Given the description of an element on the screen output the (x, y) to click on. 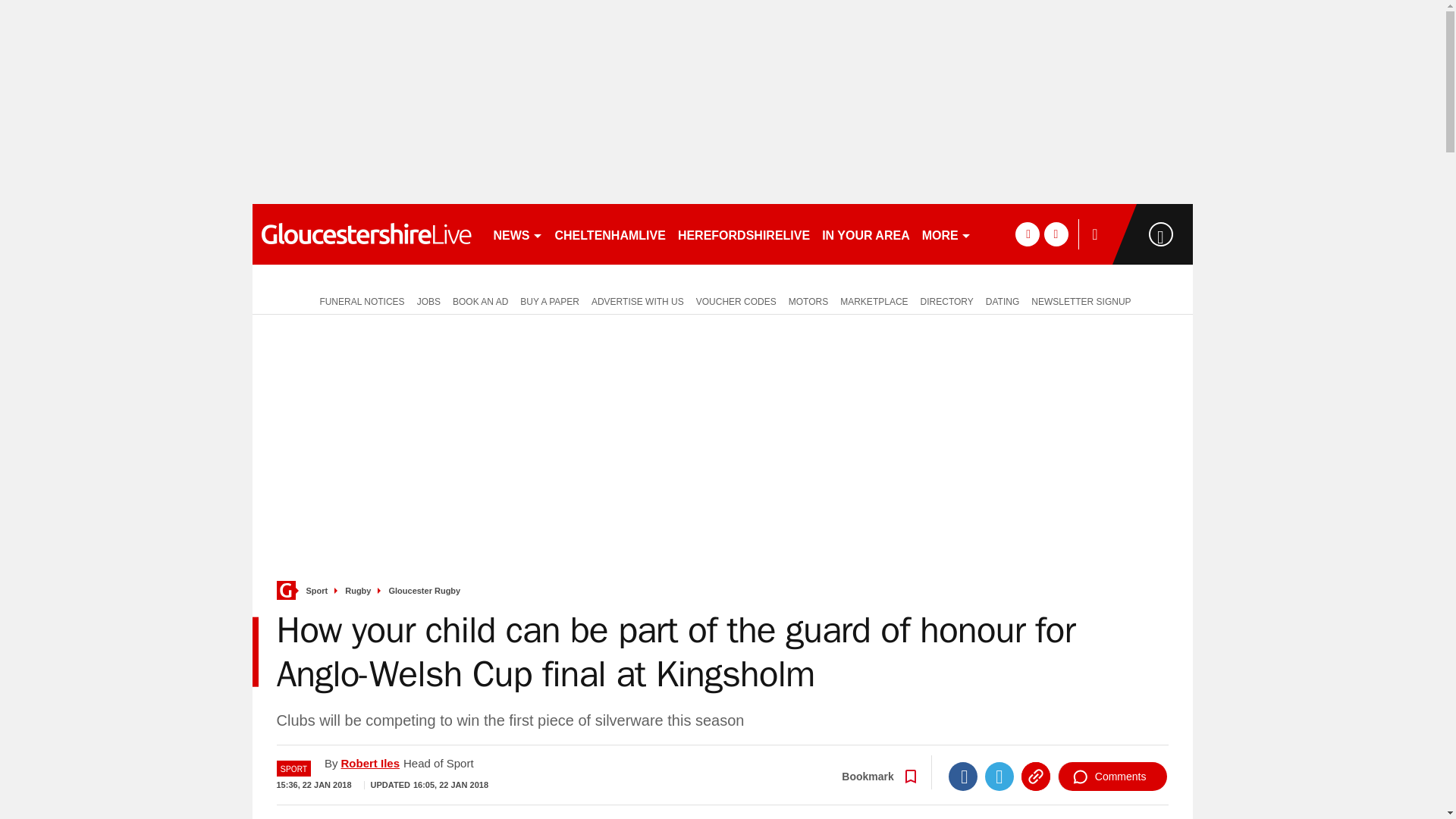
Facebook (962, 776)
Twitter (999, 776)
NEWS (517, 233)
MORE (945, 233)
IN YOUR AREA (865, 233)
Comments (1112, 776)
facebook (1026, 233)
gloucestershirelive (365, 233)
CHELTENHAMLIVE (609, 233)
HEREFORDSHIRELIVE (743, 233)
twitter (1055, 233)
